Given the description of an element on the screen output the (x, y) to click on. 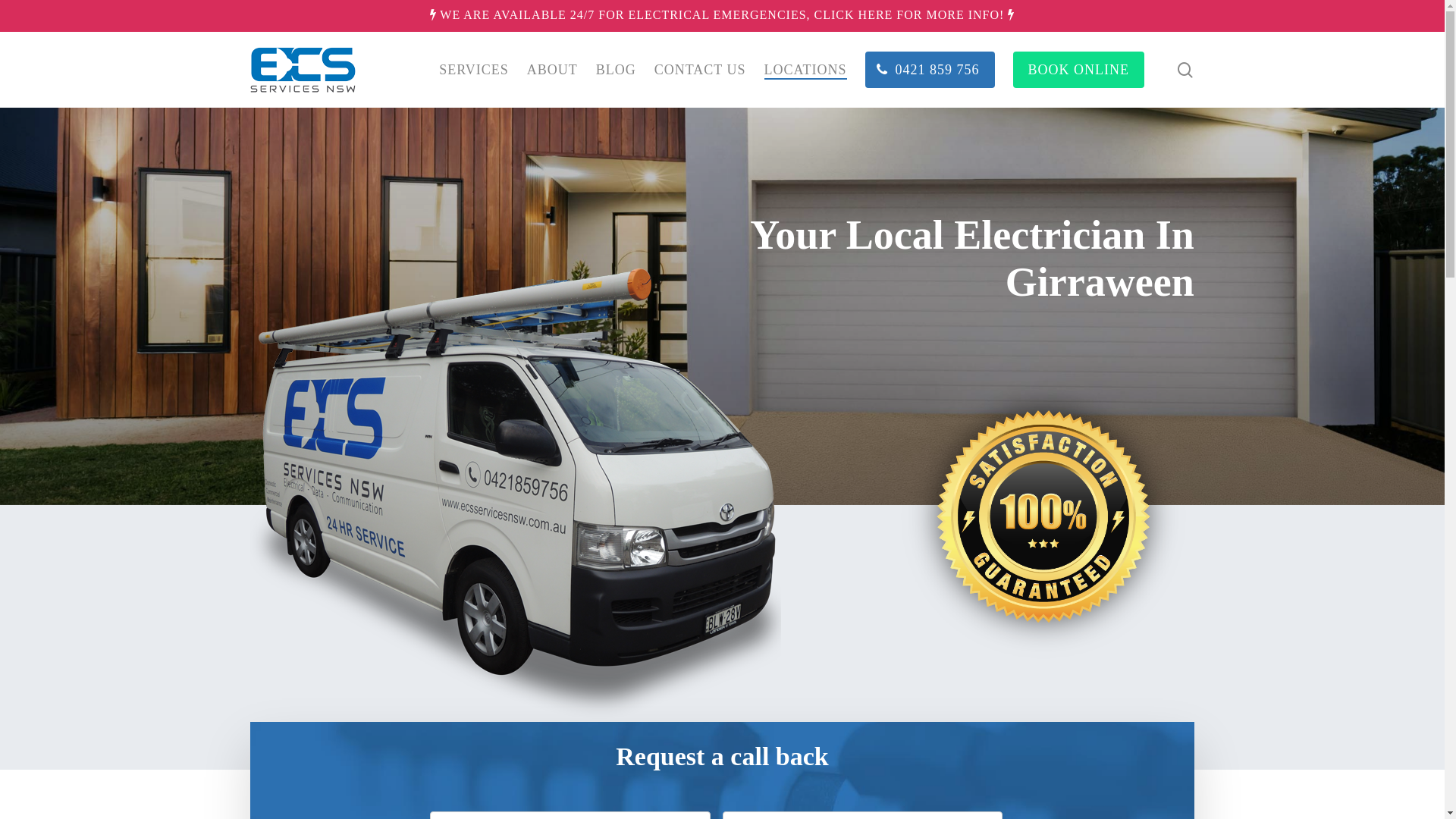
ABOUT Element type: text (552, 69)
CONTACT US Element type: text (700, 69)
search Element type: text (1185, 70)
0421 859 756 Element type: text (929, 69)
LOCATIONS Element type: text (805, 69)
BOOK ONLINE Element type: text (1078, 69)
BLOG Element type: text (616, 69)
SERVICES Element type: text (473, 69)
